Given the description of an element on the screen output the (x, y) to click on. 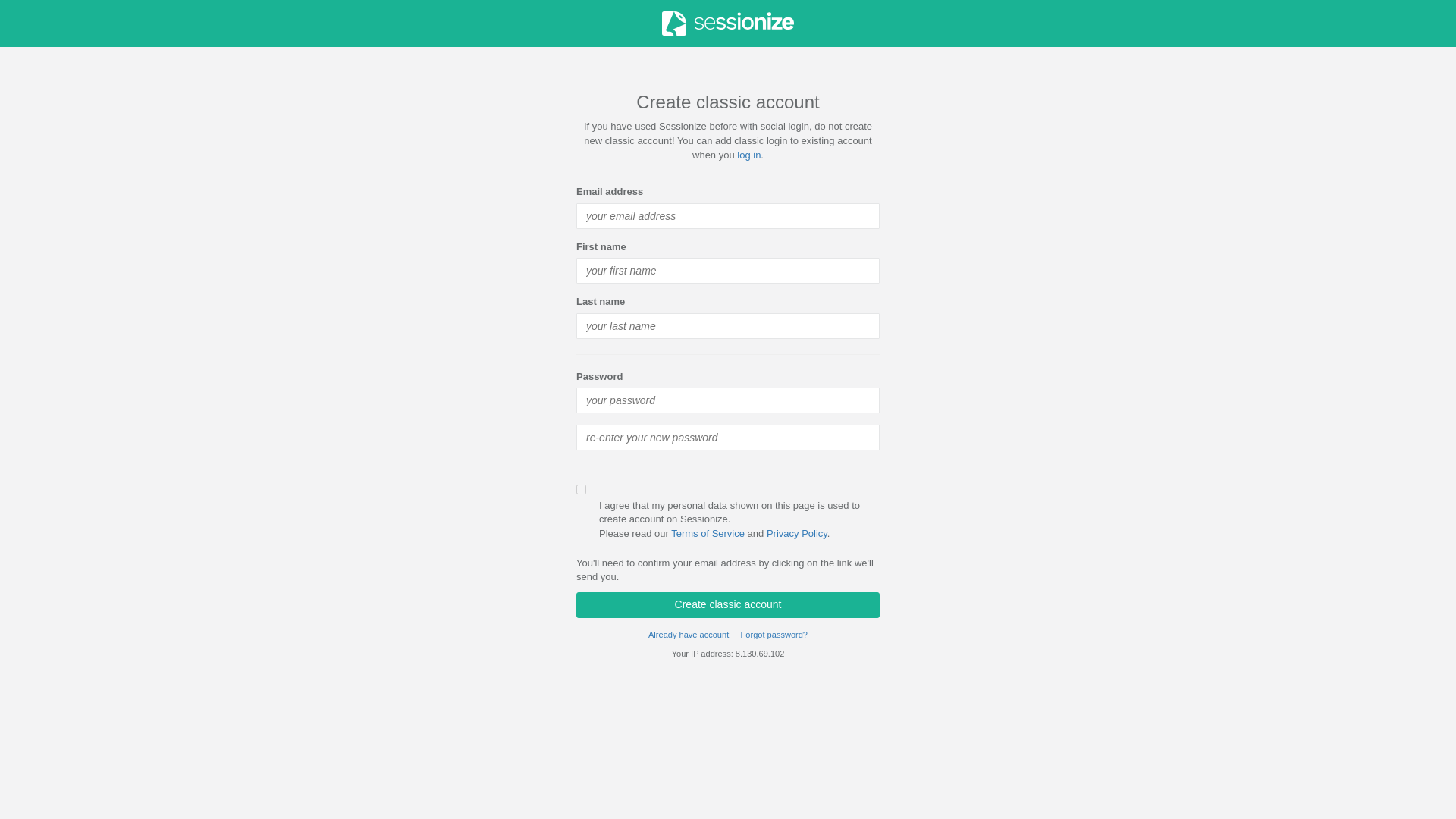
Create classic account (727, 592)
true (581, 484)
log in (748, 139)
Forgot password? (774, 622)
Already have account (688, 621)
Privacy Policy (797, 519)
Terms of Service (707, 518)
